Given the description of an element on the screen output the (x, y) to click on. 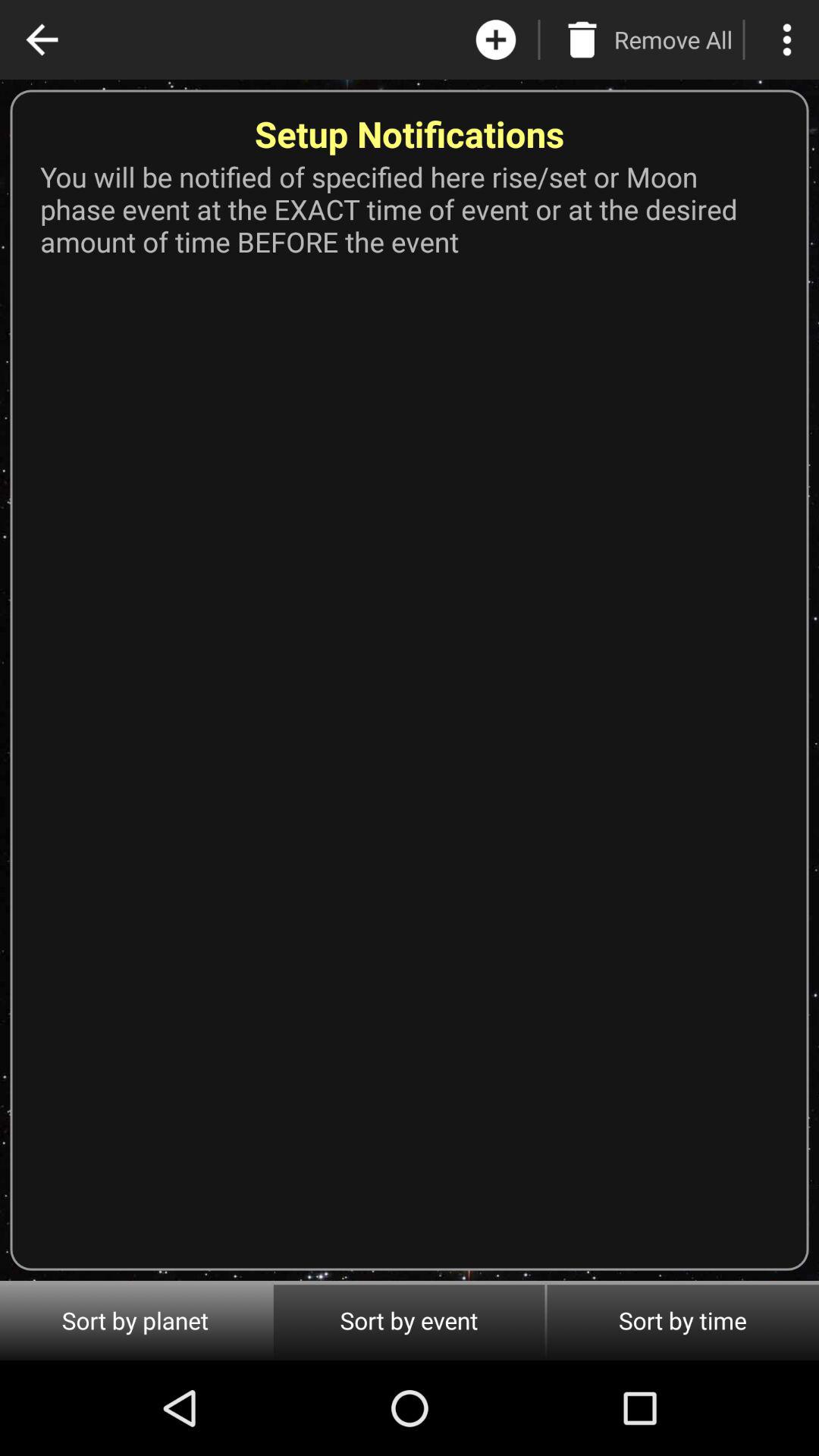
choose icon above the you will be item (787, 39)
